Given the description of an element on the screen output the (x, y) to click on. 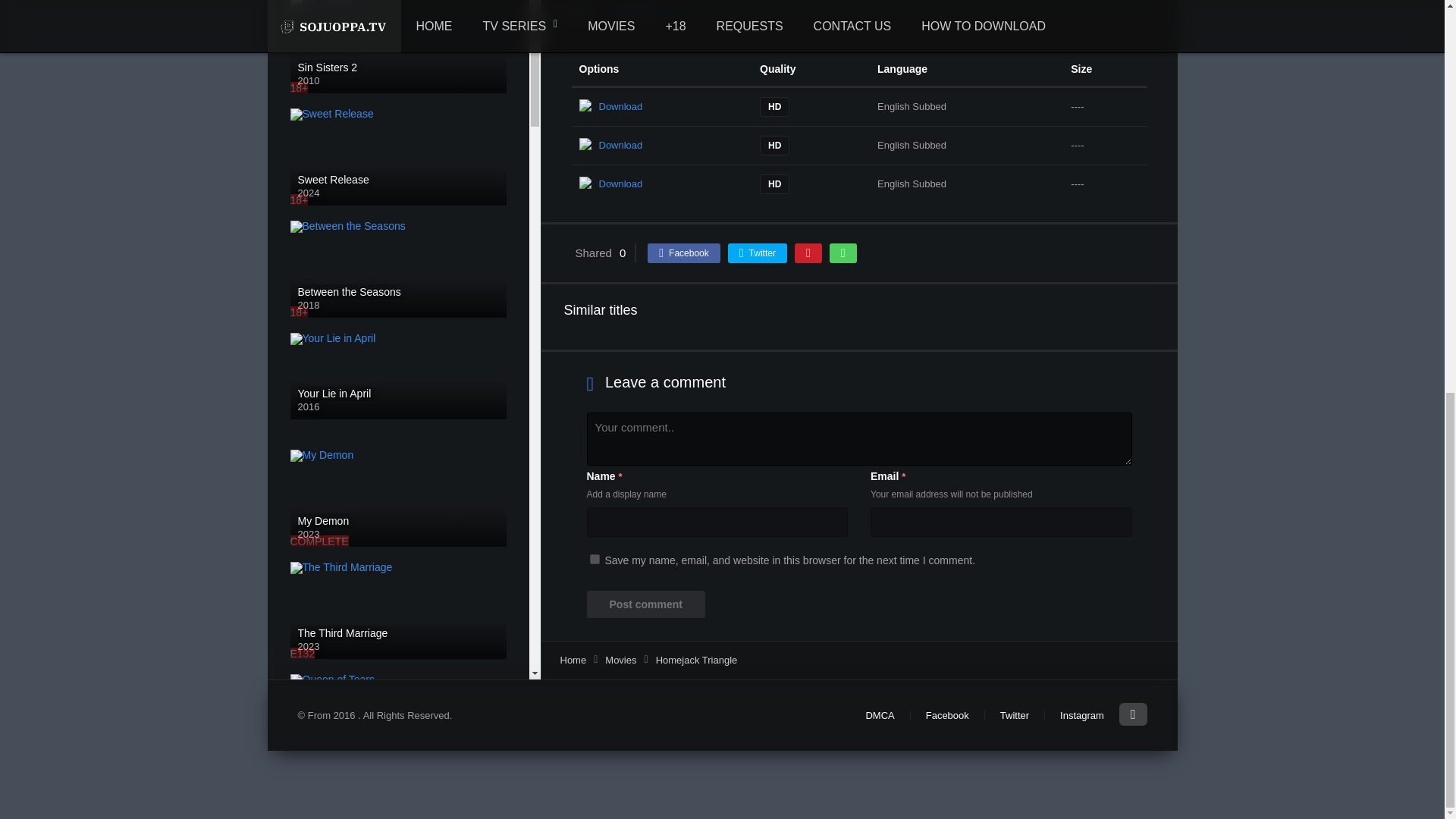
Post comment (645, 604)
yes (594, 559)
